Given the description of an element on the screen output the (x, y) to click on. 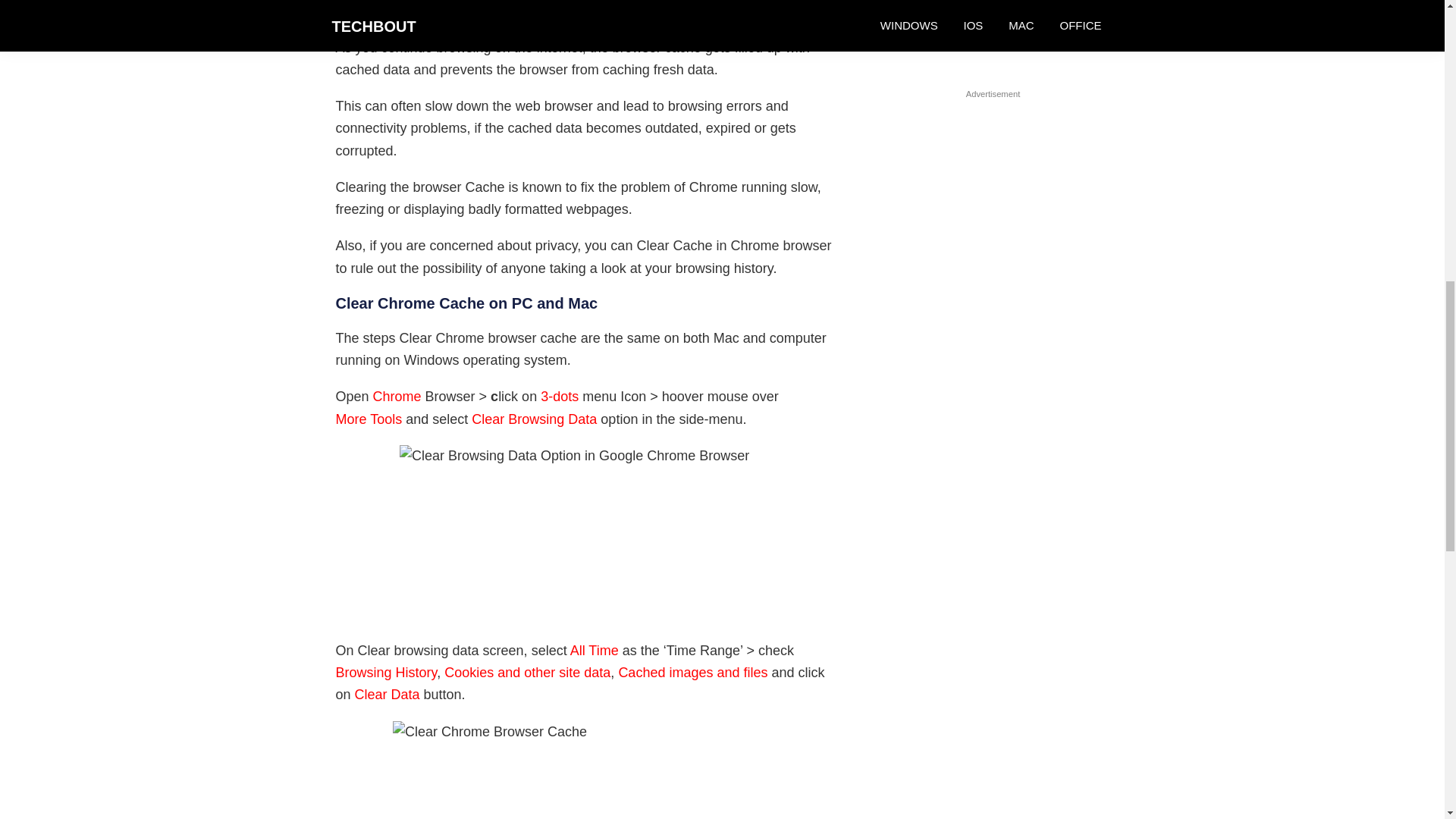
Clear Chrome Browser Cache (586, 770)
Fix: DPC Watchdog Violation Error in Windows (975, 11)
Clear Browsing Data Option in Google Chrome Browser (586, 531)
